Given the description of an element on the screen output the (x, y) to click on. 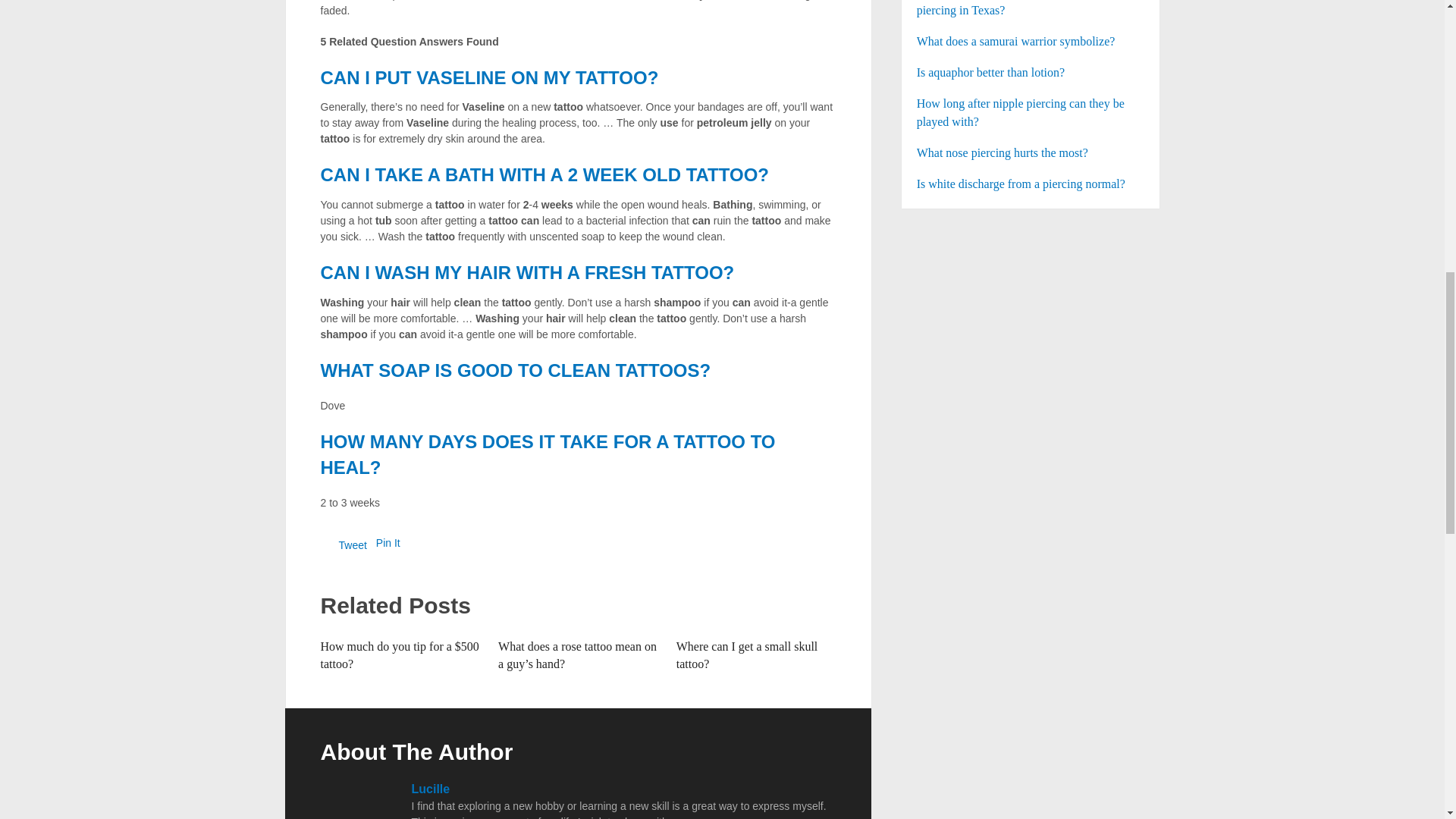
Tweet (351, 544)
CAN I PUT VASELINE ON MY TATTOO? (489, 77)
Where can I get a small skull tattoo? (747, 654)
What does a samurai warrior symbolize? (1030, 41)
Is aquaphor better than lotion? (1030, 72)
Is white discharge from a piercing normal? (1030, 184)
HOW MANY DAYS DOES IT TAKE FOR A TATTOO TO HEAL? (547, 454)
CAN I TAKE A BATH WITH A 2 WEEK OLD TATTOO? (544, 174)
CAN I WASH MY HAIR WITH A FRESH TATTOO? (526, 272)
How old do you have to be to get a body piercing in Texas? (1030, 9)
What soap is good to clean tattoos? (515, 370)
Is aquaphor better than lotion? (1030, 72)
WHAT SOAP IS GOOD TO CLEAN TATTOOS? (515, 370)
Lucille (429, 788)
Where can I get a small skull tattoo? (747, 654)
